Given the description of an element on the screen output the (x, y) to click on. 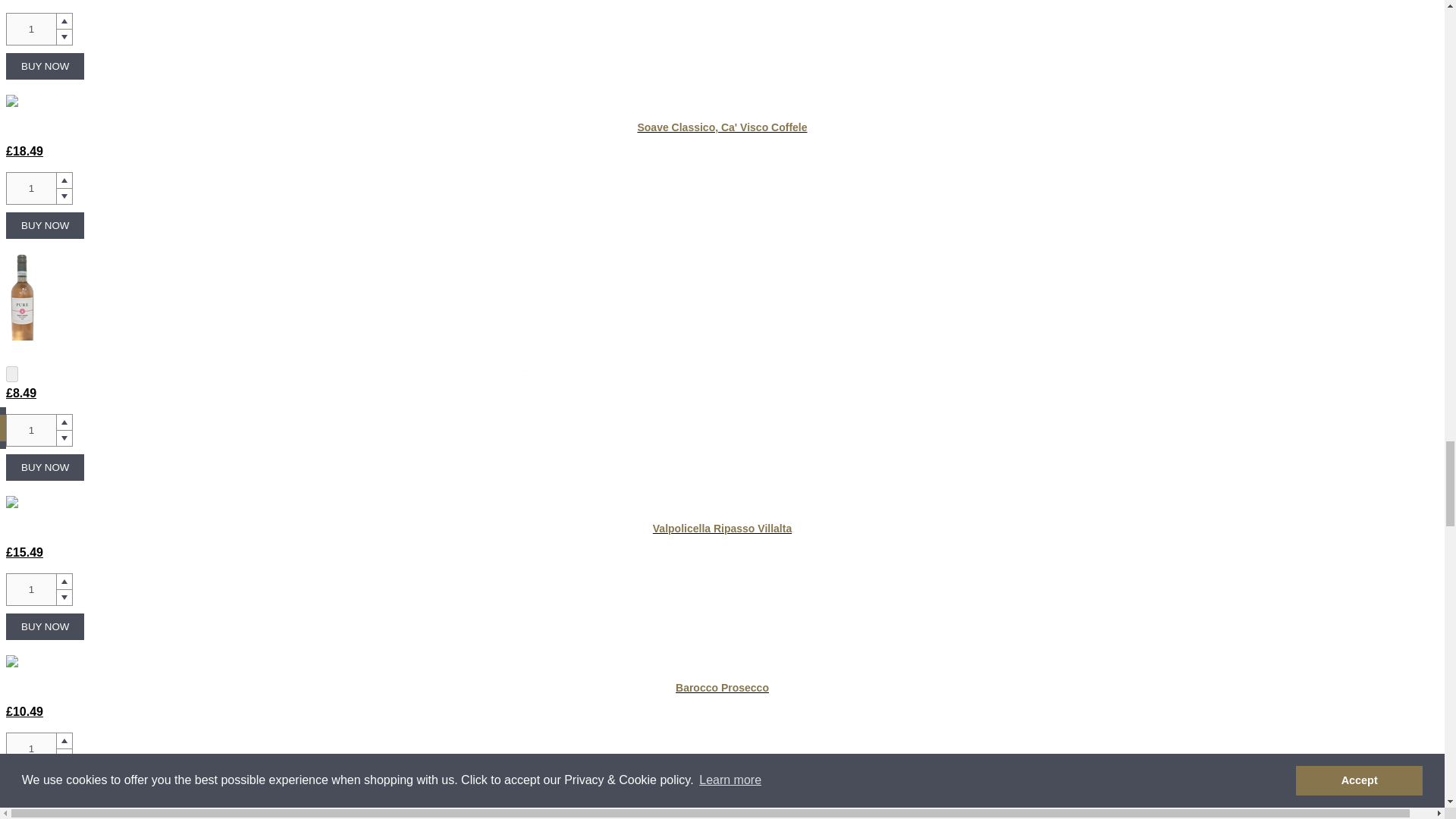
1 (30, 589)
1 (30, 748)
1 (30, 29)
1 (30, 187)
1 (30, 430)
